Given the description of an element on the screen output the (x, y) to click on. 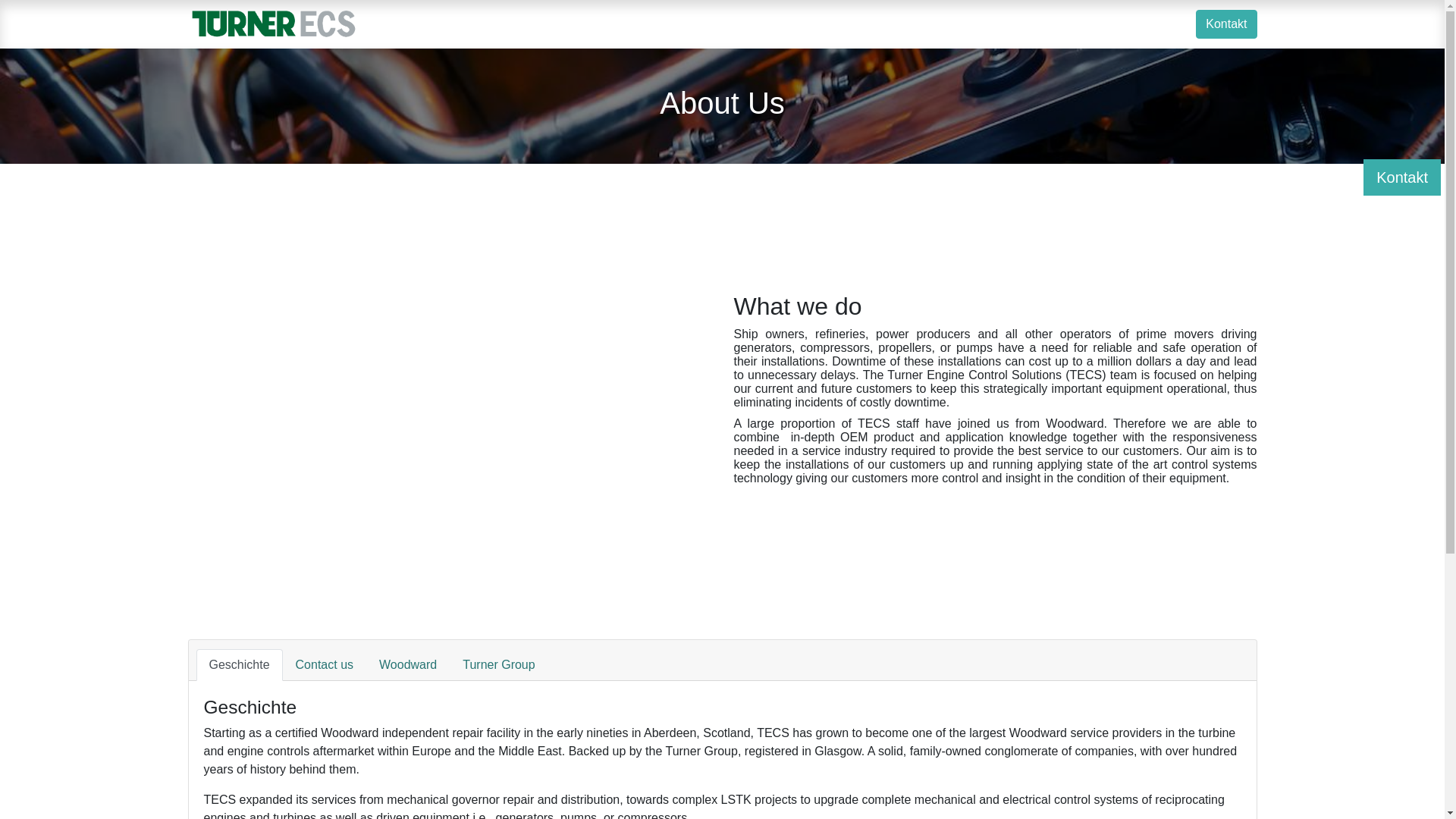
Contact us (324, 664)
Kontakt (1225, 23)
Turner Group (498, 664)
Woodward (407, 664)
Turner ECS BV (273, 23)
Geschichte (238, 664)
